Given the description of an element on the screen output the (x, y) to click on. 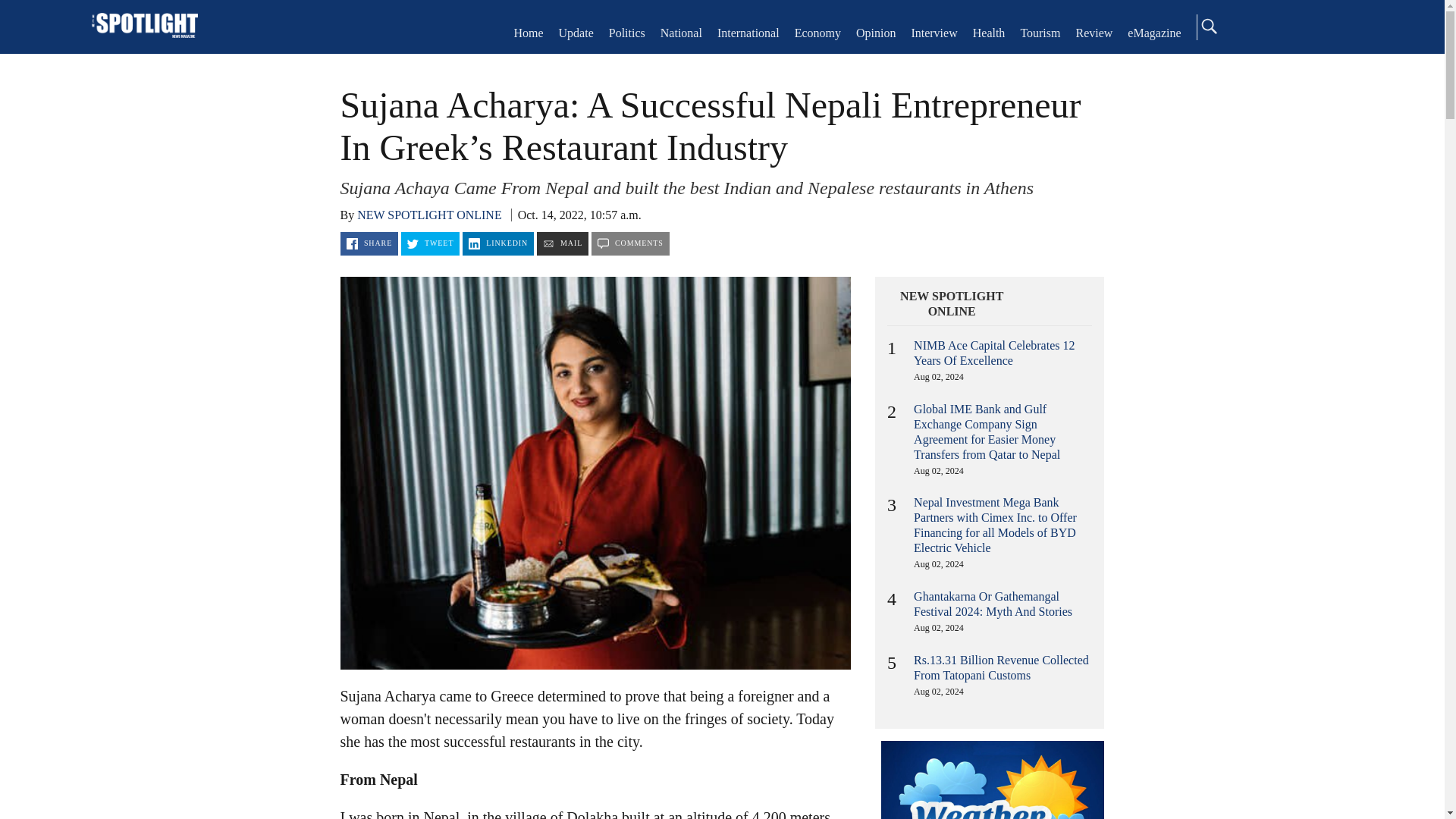
National (681, 32)
COMMENTS (630, 243)
Health (989, 32)
SHARE (368, 243)
Home (144, 26)
Politics (626, 32)
Review (1093, 32)
NEW SPOTLIGHT ONLINE (951, 304)
Tourism (1039, 32)
Email (563, 243)
Search (1208, 26)
Opinion (875, 32)
Update (576, 32)
